Given the description of an element on the screen output the (x, y) to click on. 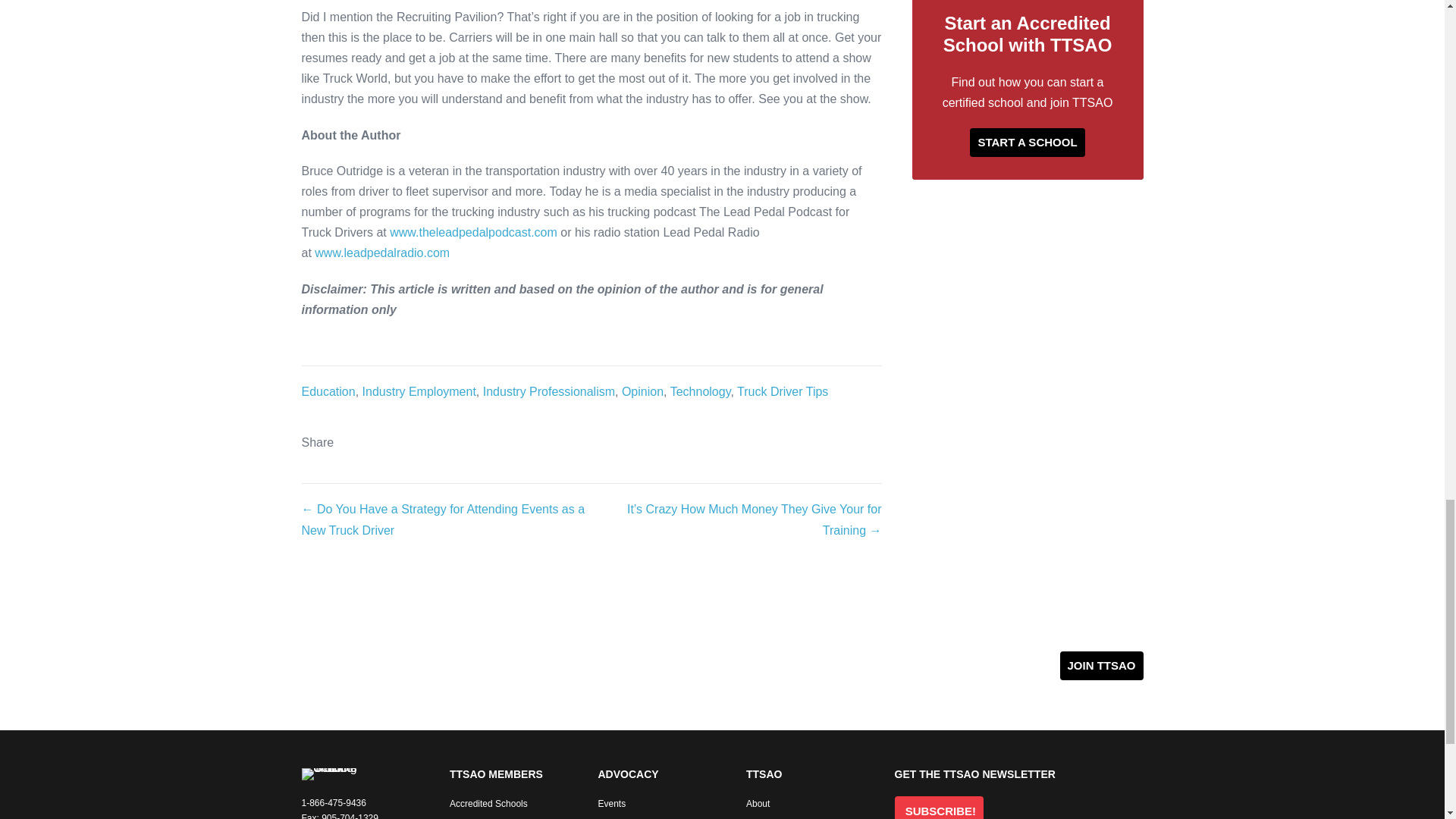
Truck Driver Tips (782, 391)
Opinion (642, 391)
Education (328, 391)
Industry Professionalism (548, 391)
TTSAO Logo (329, 774)
Industry Employment (419, 391)
www.leadpedalradio.com (381, 252)
Technology (699, 391)
www.theleadpedalpodcast.com (473, 232)
